Given the description of an element on the screen output the (x, y) to click on. 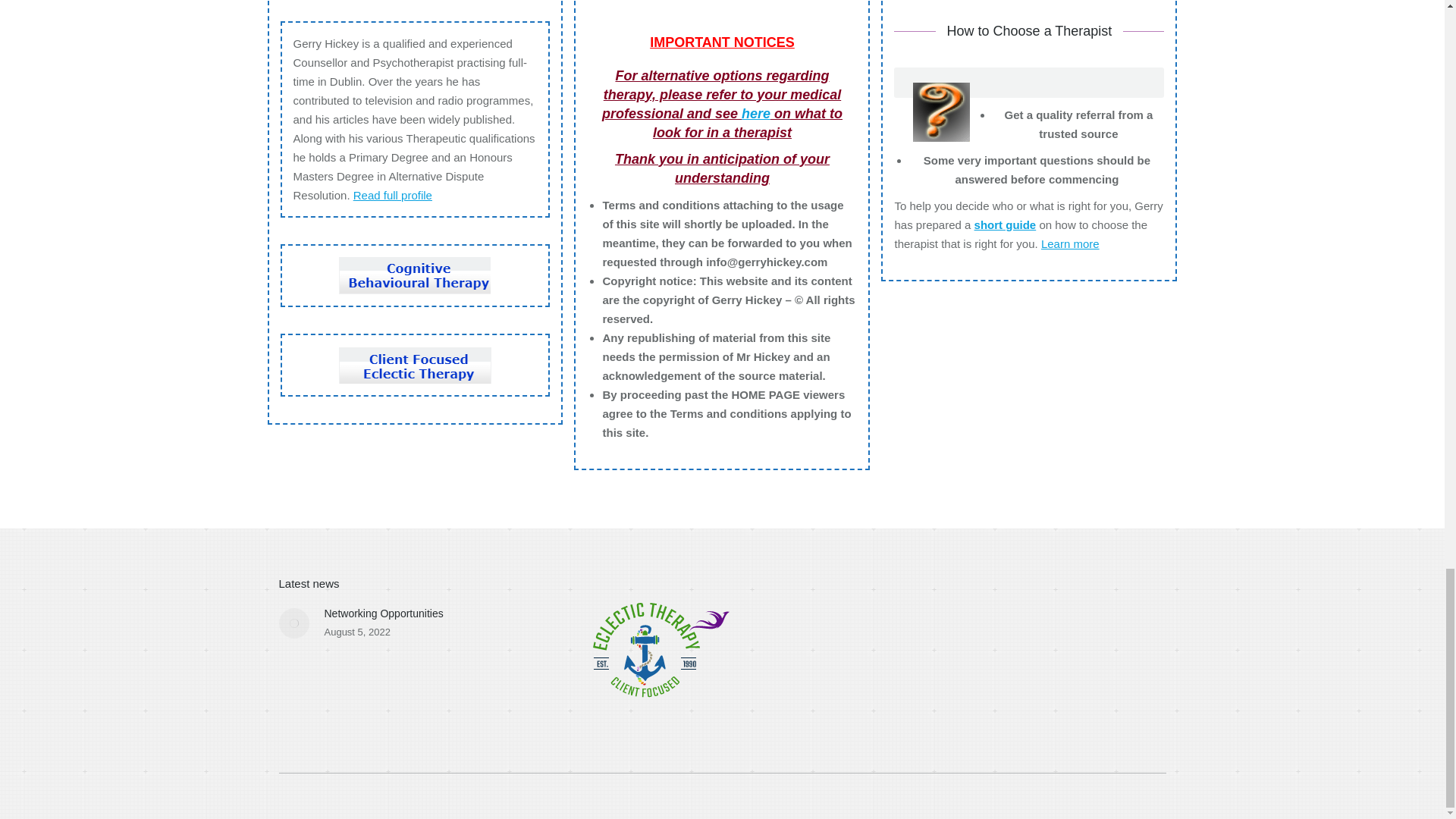
here (755, 113)
Read full profile (392, 194)
Networking Opportunities (384, 613)
short guide (1005, 224)
Learn more (1070, 242)
